Given the description of an element on the screen output the (x, y) to click on. 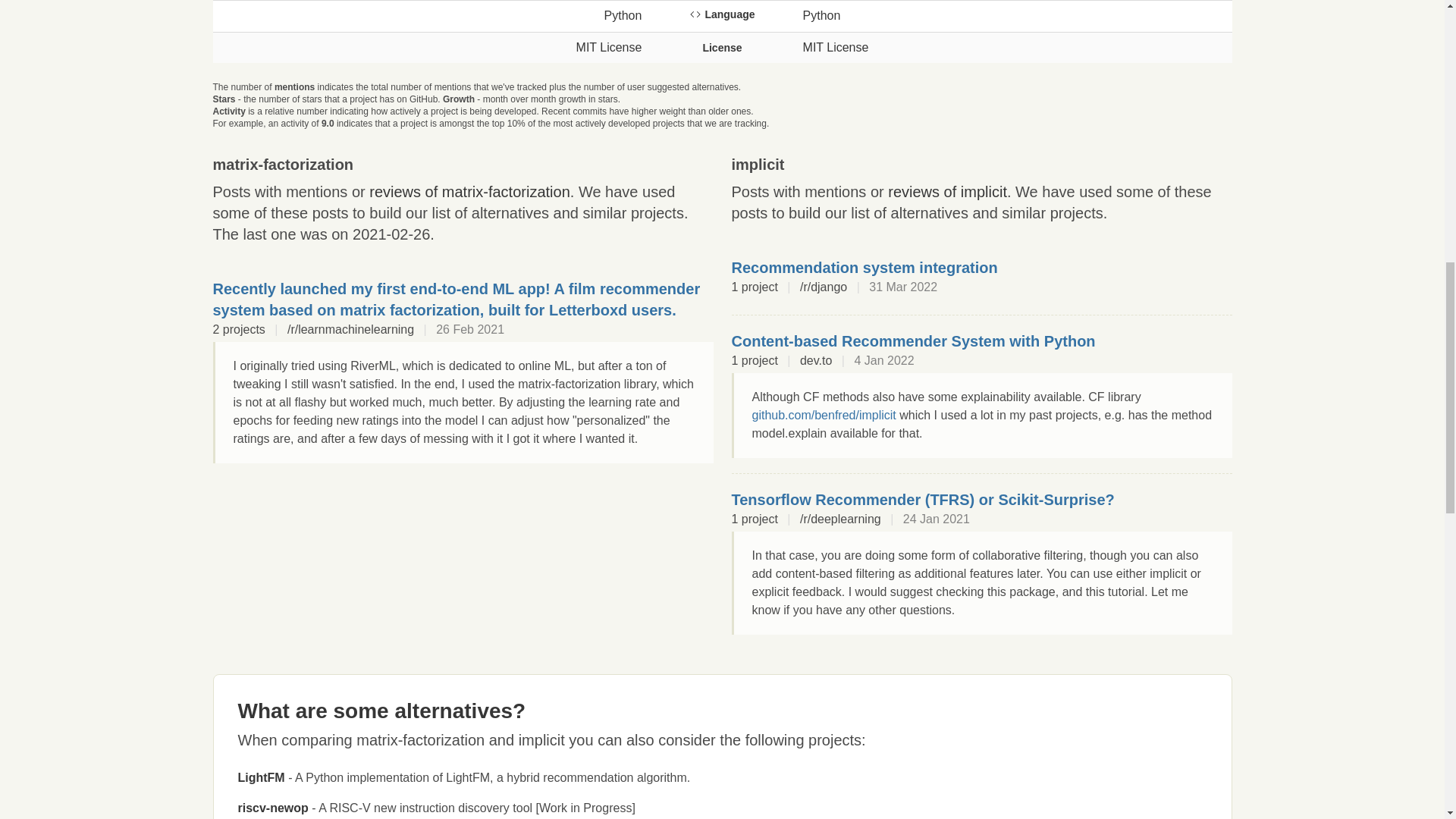
Recommendation system integration (863, 267)
Programming language (721, 14)
